Given the description of an element on the screen output the (x, y) to click on. 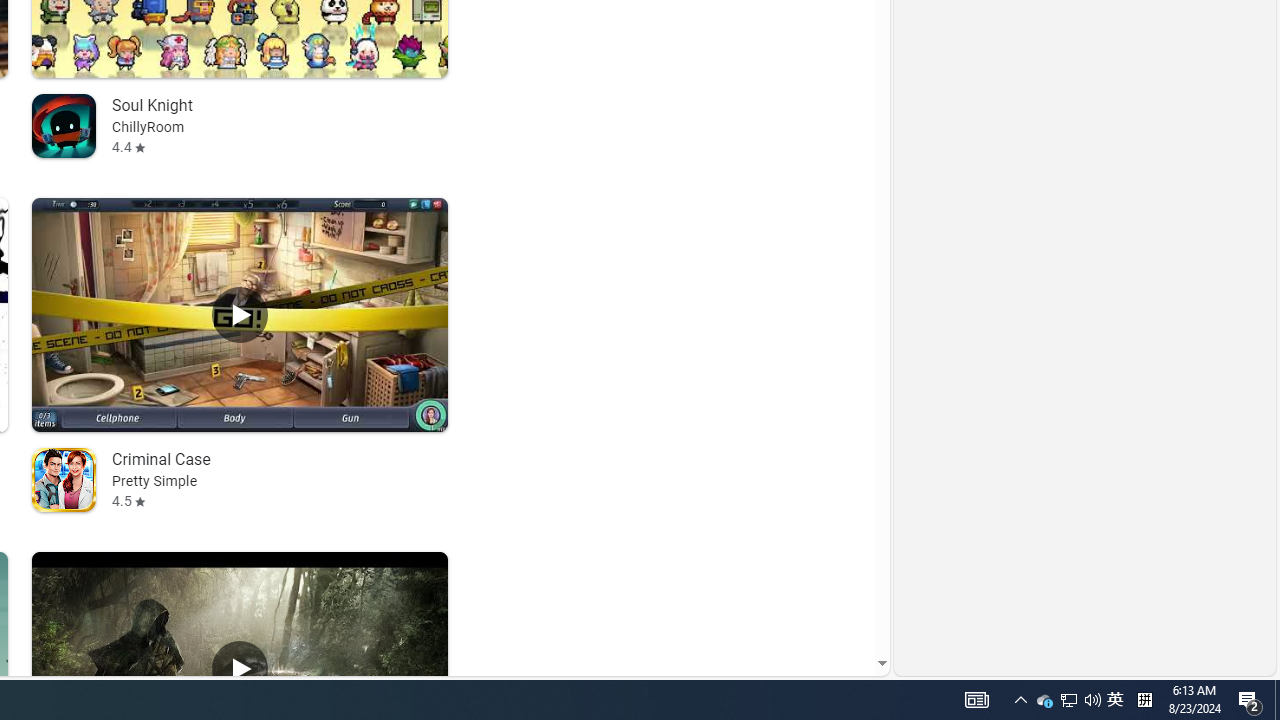
Play Cover Fire: Offline Shooting (239, 668)
Play Criminal Case (239, 315)
